Given the description of an element on the screen output the (x, y) to click on. 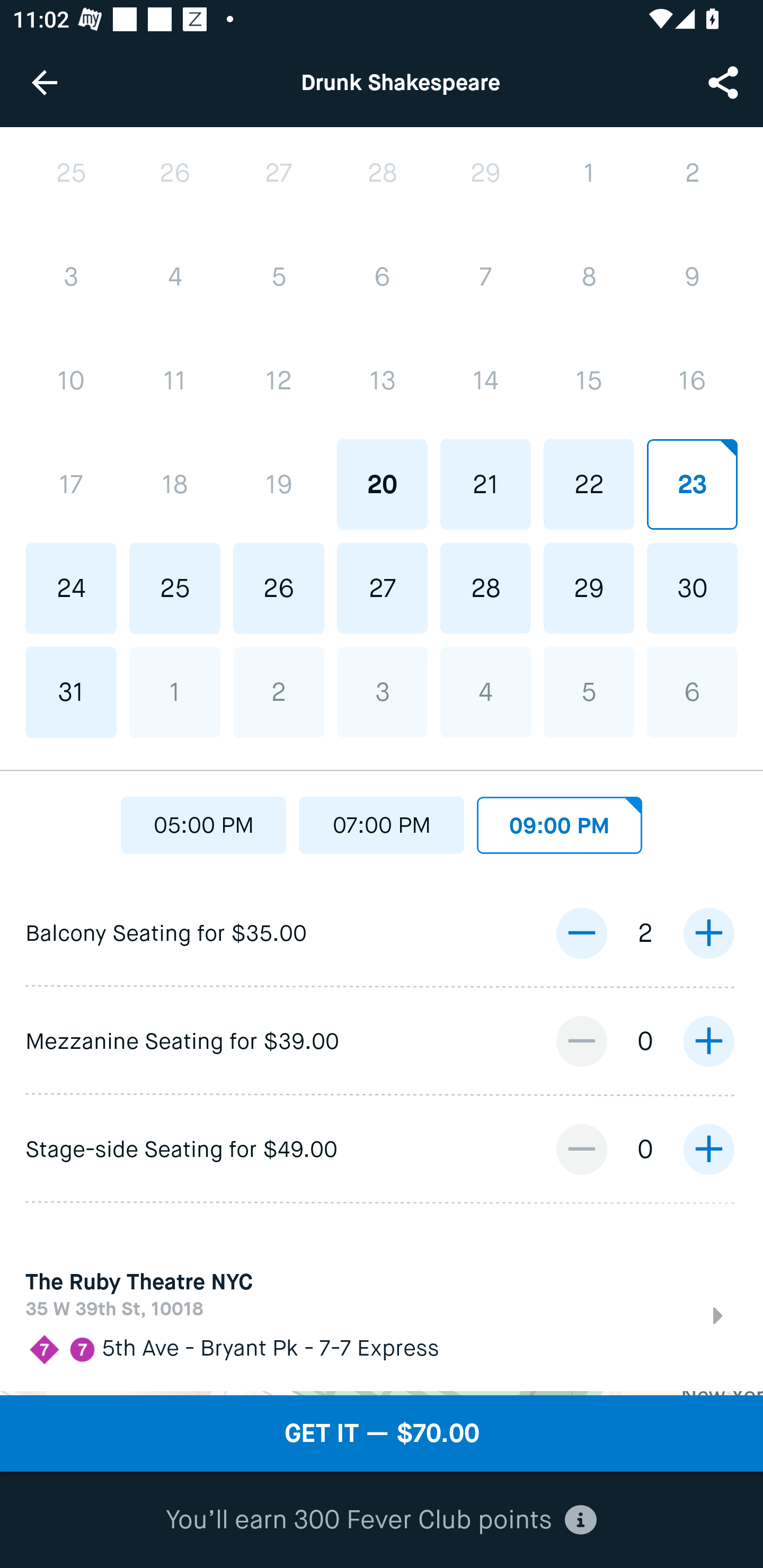
Navigate up (44, 82)
Share (724, 81)
25 (70, 173)
26 (174, 173)
27 (278, 173)
28 (382, 172)
29 (485, 172)
1 (588, 172)
2 (692, 172)
3 (70, 277)
4 (174, 277)
5 (278, 277)
6 (382, 276)
7 (485, 276)
8 (588, 276)
9 (692, 276)
10 (70, 380)
11 (174, 380)
12 (278, 380)
13 (382, 380)
14 (485, 380)
15 (588, 380)
16 (692, 380)
17 (70, 484)
18 (174, 484)
19 (278, 484)
20 (382, 484)
21 (485, 484)
22 (588, 484)
23 (692, 484)
24 (70, 587)
25 (174, 587)
26 (278, 587)
27 (382, 587)
28 (485, 587)
29 (588, 587)
30 (692, 587)
31 (70, 692)
1 (174, 692)
2 (278, 692)
3 (382, 691)
4 (485, 691)
5 (588, 691)
6 (692, 691)
05:00 PM (203, 820)
07:00 PM (381, 820)
09:00 PM (559, 820)
decrease (581, 933)
increase (708, 933)
decrease (581, 1041)
increase (708, 1041)
decrease (581, 1148)
increase (708, 1148)
Google Map (381, 1392)
GET IT — $70.00 (381, 1433)
You’ll earn 300 Fever Club points (380, 1519)
